Given the description of an element on the screen output the (x, y) to click on. 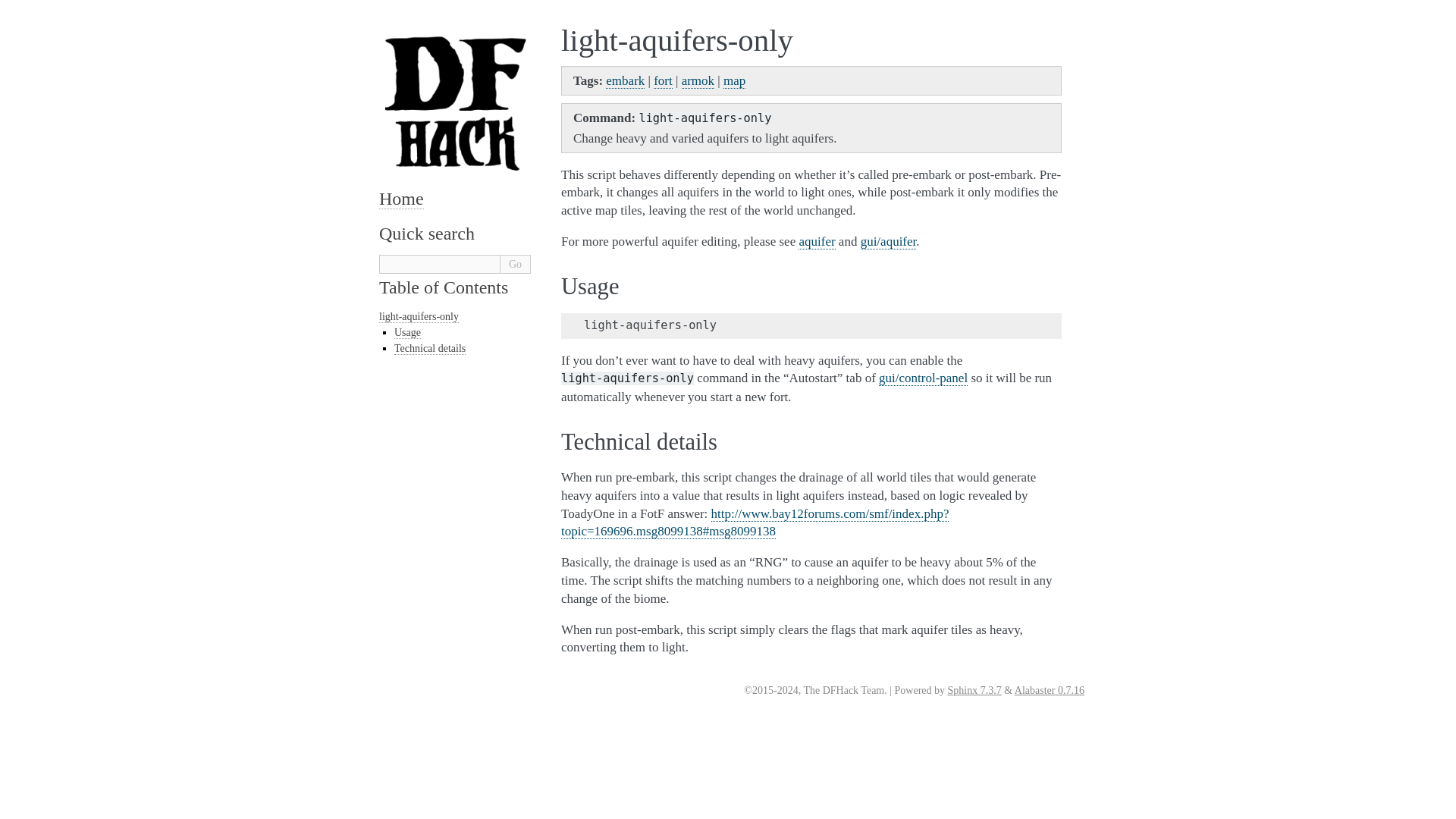
aquifer (815, 241)
Table of Contents (443, 287)
Go (515, 263)
Usage (407, 332)
armok (697, 80)
Technical details (429, 348)
Home (400, 199)
embark (625, 80)
map (734, 80)
light-aquifers-only (418, 316)
Go (515, 263)
fort (662, 80)
